Given the description of an element on the screen output the (x, y) to click on. 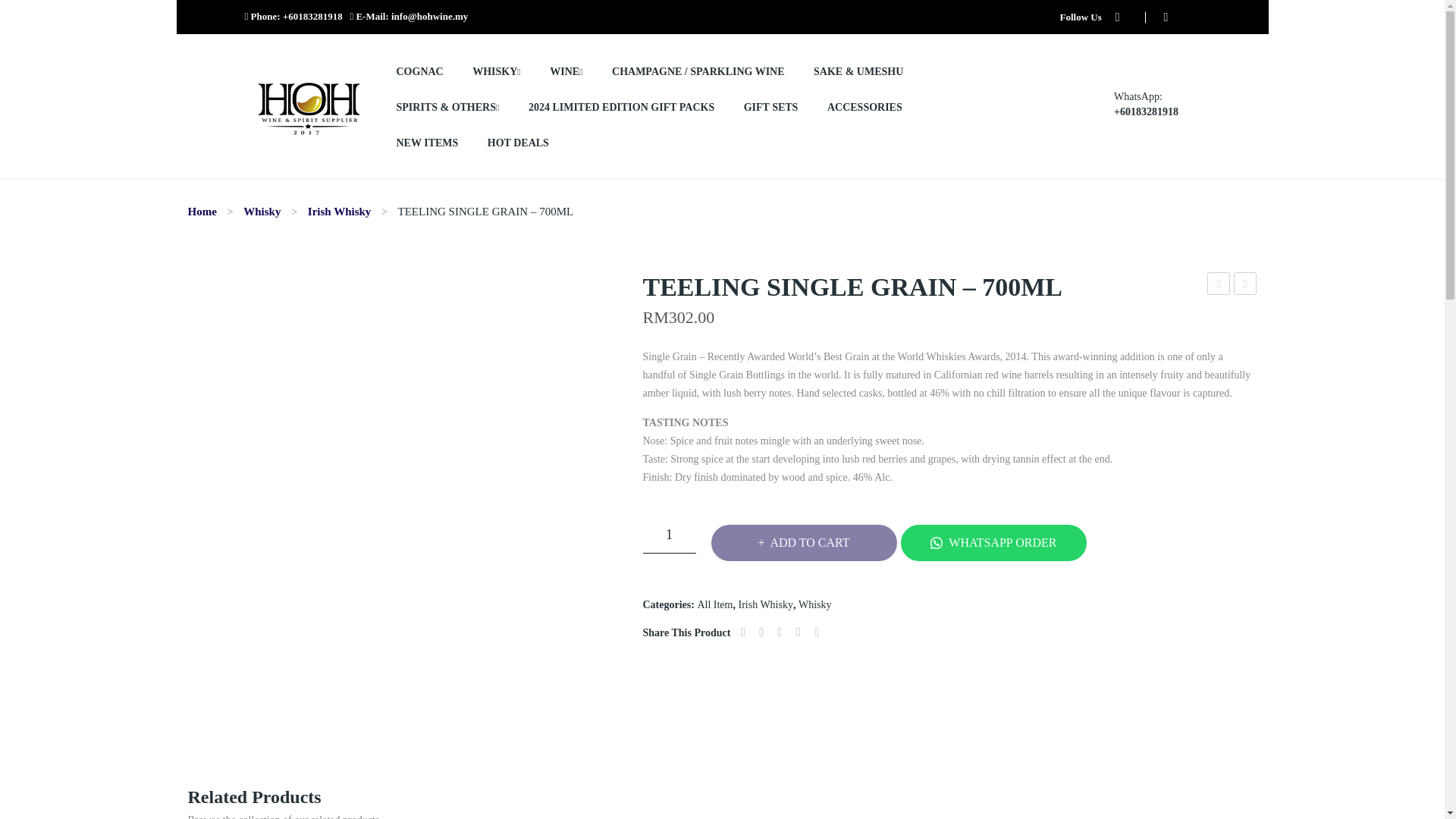
WHISKY (496, 71)
1 (669, 534)
COGNAC (419, 71)
WINE (566, 71)
